Given the description of an element on the screen output the (x, y) to click on. 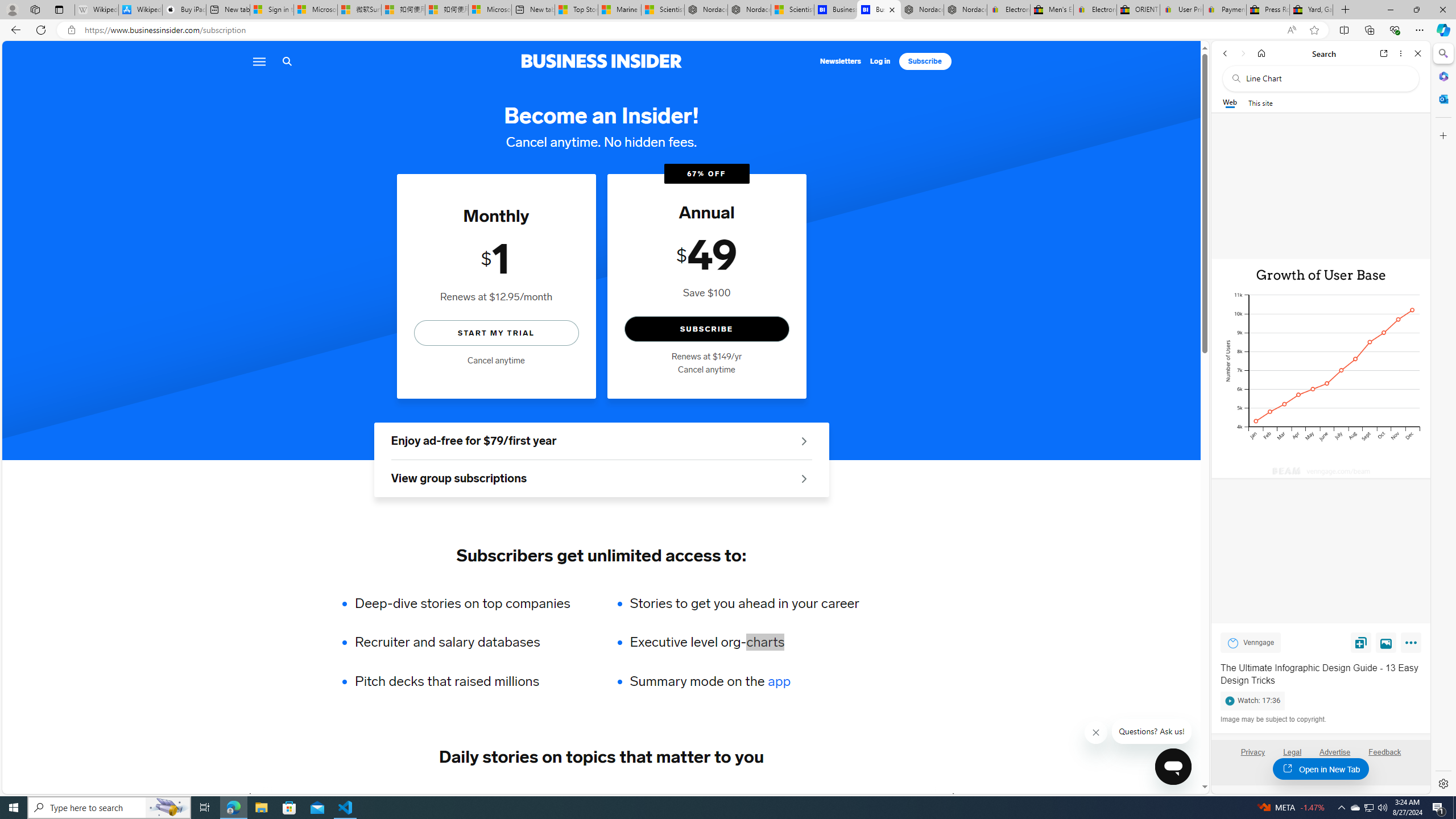
Newsletters (840, 61)
Log in (880, 61)
Class: sc-1k07fow-1 cbnSms (1173, 766)
View group subscriptions (601, 478)
Subscribe (925, 61)
HEALTHCARE (680, 796)
